Given the description of an element on the screen output the (x, y) to click on. 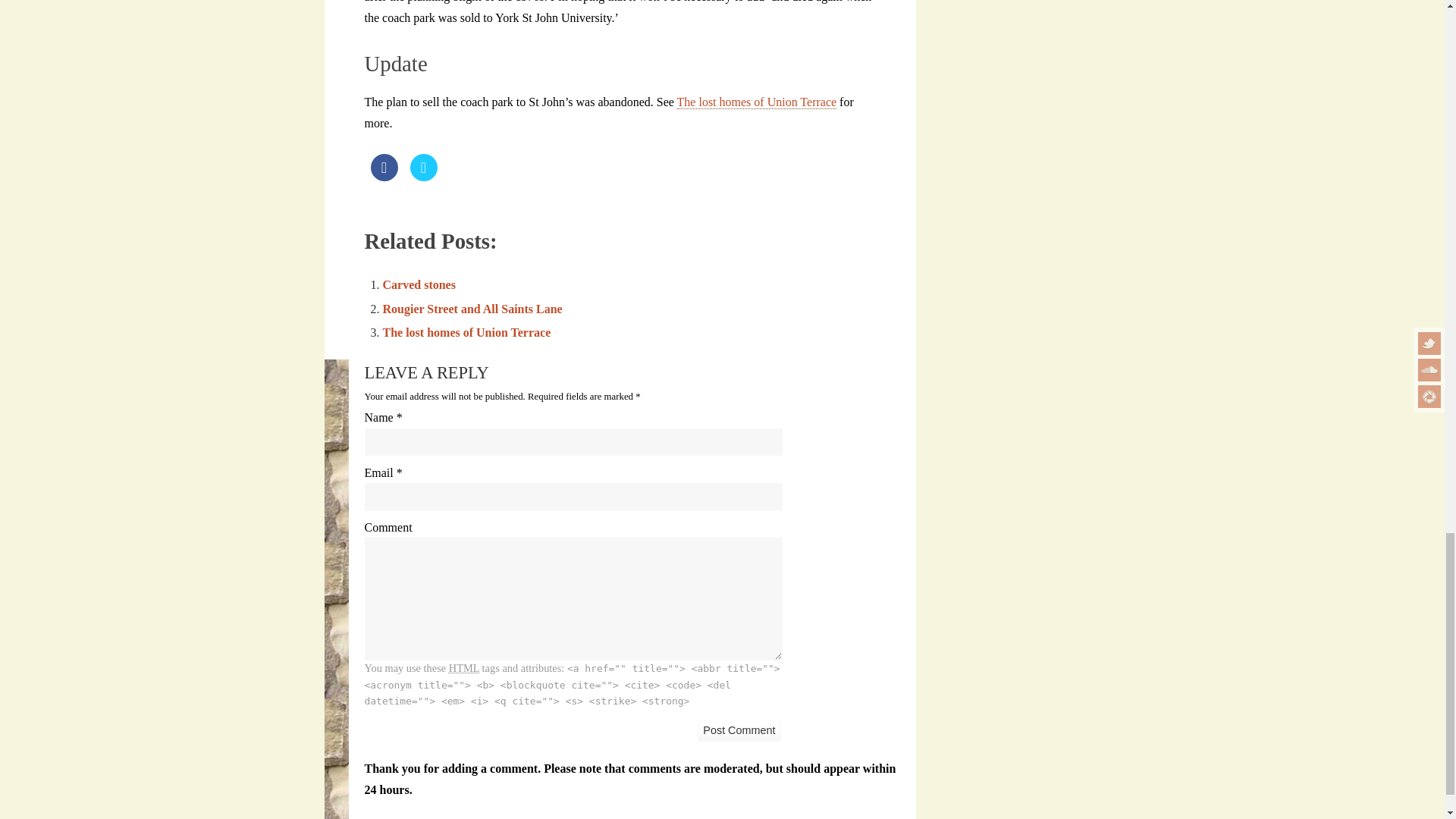
Carved stones (417, 284)
The lost homes of Union Terrace (757, 101)
Rougier Street and All Saints Lane (471, 308)
Rougier Street and All Saints Lane (471, 308)
HyperText Markup Language (463, 667)
The lost homes of Union Terrace (465, 332)
Post Comment (738, 730)
Post Comment (738, 730)
Carved stones (417, 284)
The lost homes of Union Terrace (465, 332)
